Given the description of an element on the screen output the (x, y) to click on. 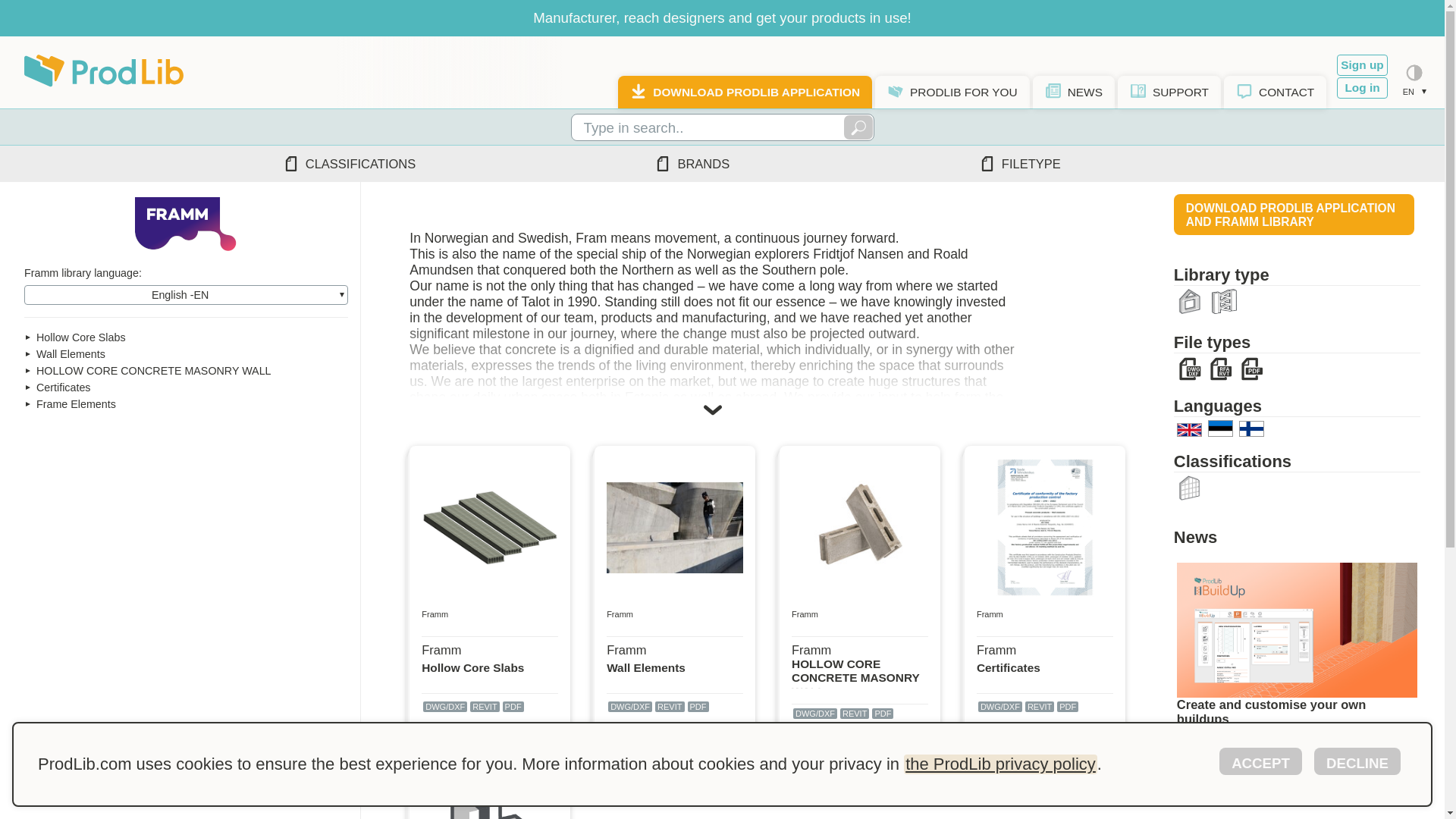
DOWNLOAD PRODLIB APPLICATION AND FRAMM LIBRARY (1293, 214)
Log in (1361, 87)
NEWS (1073, 92)
CONTACT (1275, 92)
Sign up (1361, 65)
PRODLIB FOR YOU (952, 92)
SUPPORT (1169, 92)
DOWNLOAD PRODLIB APPLICATION (744, 92)
